Given the description of an element on the screen output the (x, y) to click on. 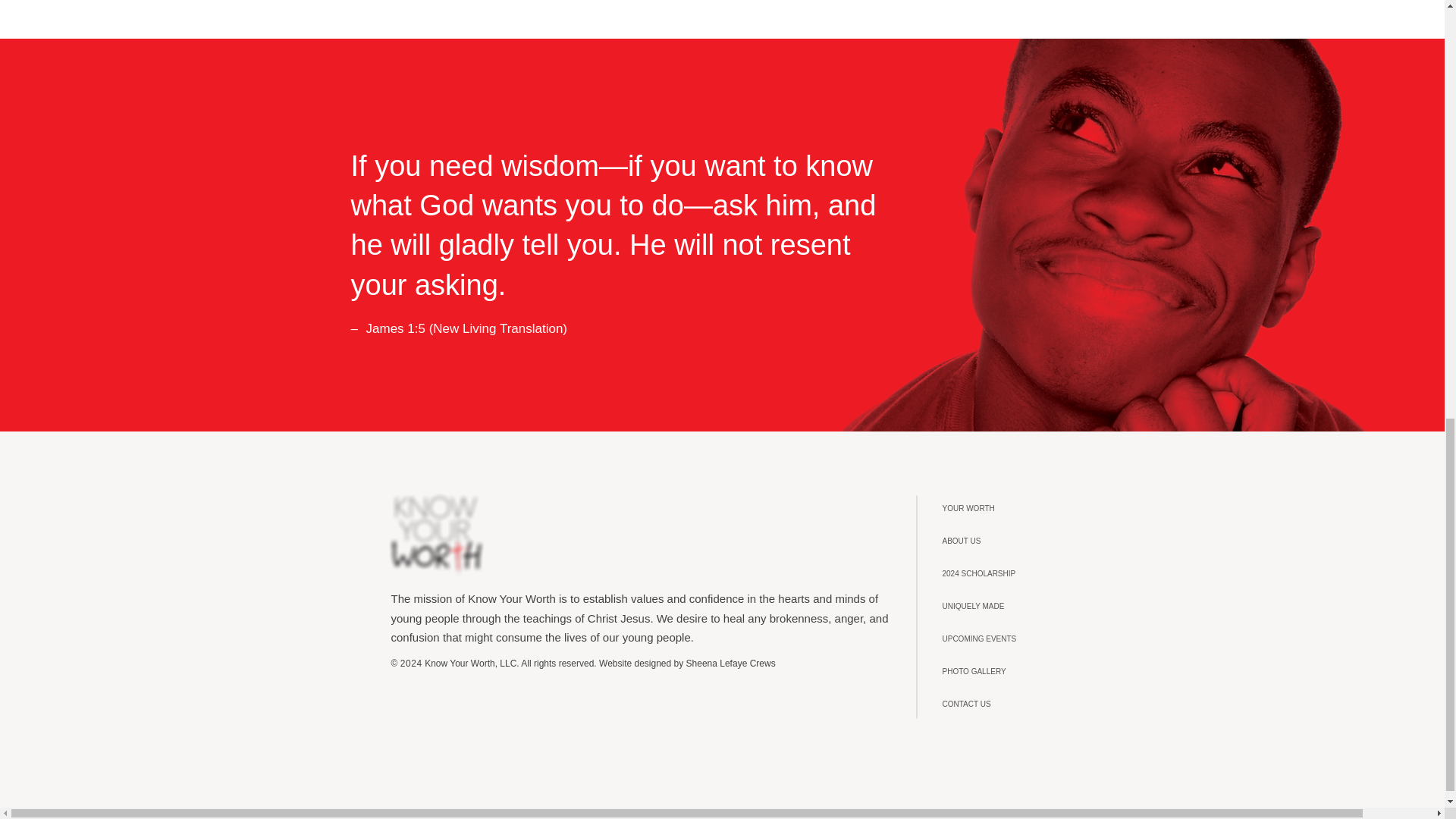
CONTACT US (1011, 703)
YOUR WORTH (1011, 508)
ABOUT US (1011, 540)
PHOTO GALLERY (1011, 671)
2024 SCHOLARSHIP (1011, 573)
UNIQUELY MADE (1011, 605)
UPCOMING EVENTS (1011, 638)
